Given the description of an element on the screen output the (x, y) to click on. 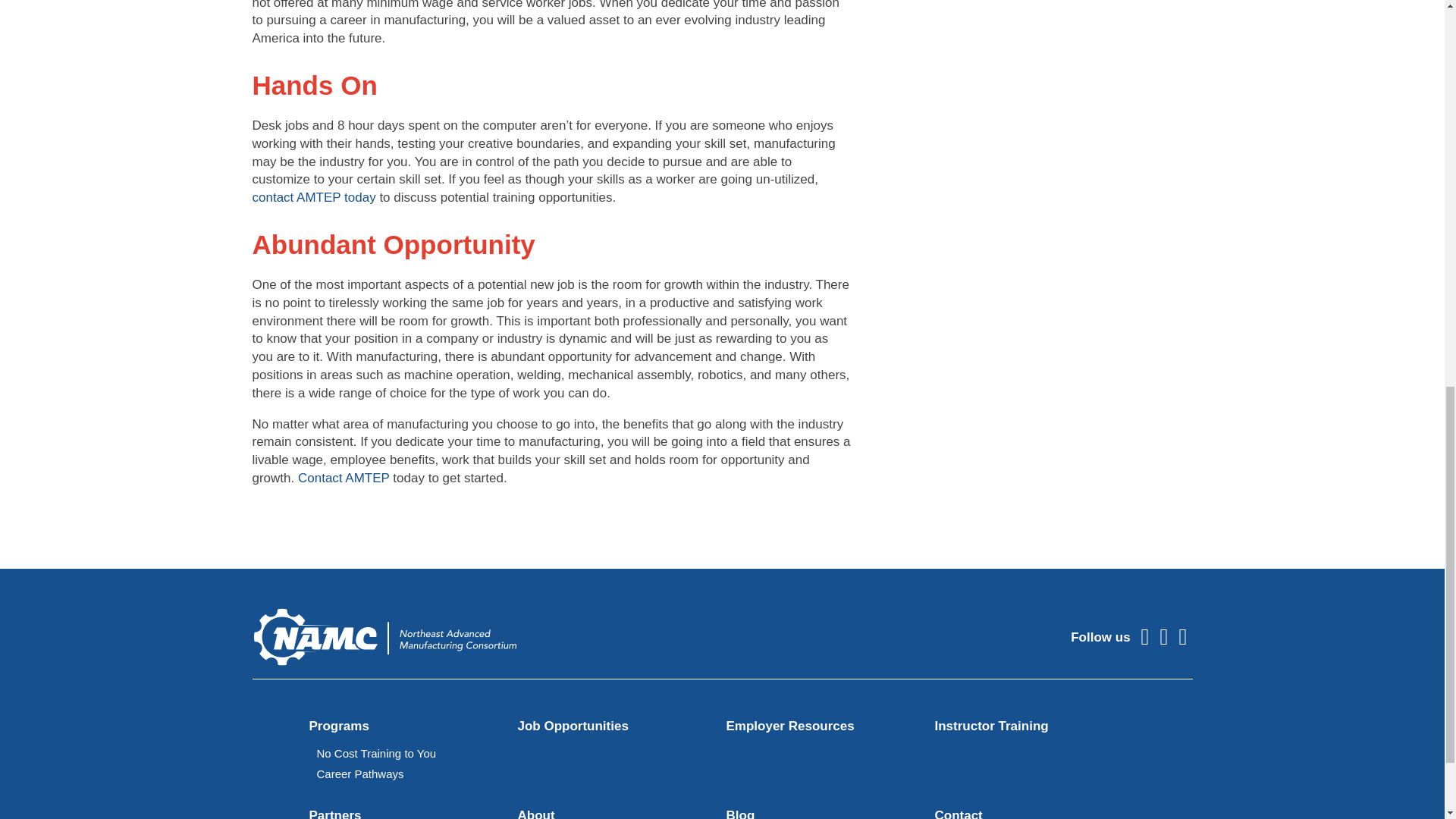
No Cost Training to You (376, 753)
Programs (338, 726)
Contact AMTEP (344, 477)
Career Pathways (360, 773)
Job Opportunities (571, 726)
Employer Resources (790, 726)
Partners (334, 813)
Instructor Training (991, 726)
contact AMTEP today (313, 197)
